Given the description of an element on the screen output the (x, y) to click on. 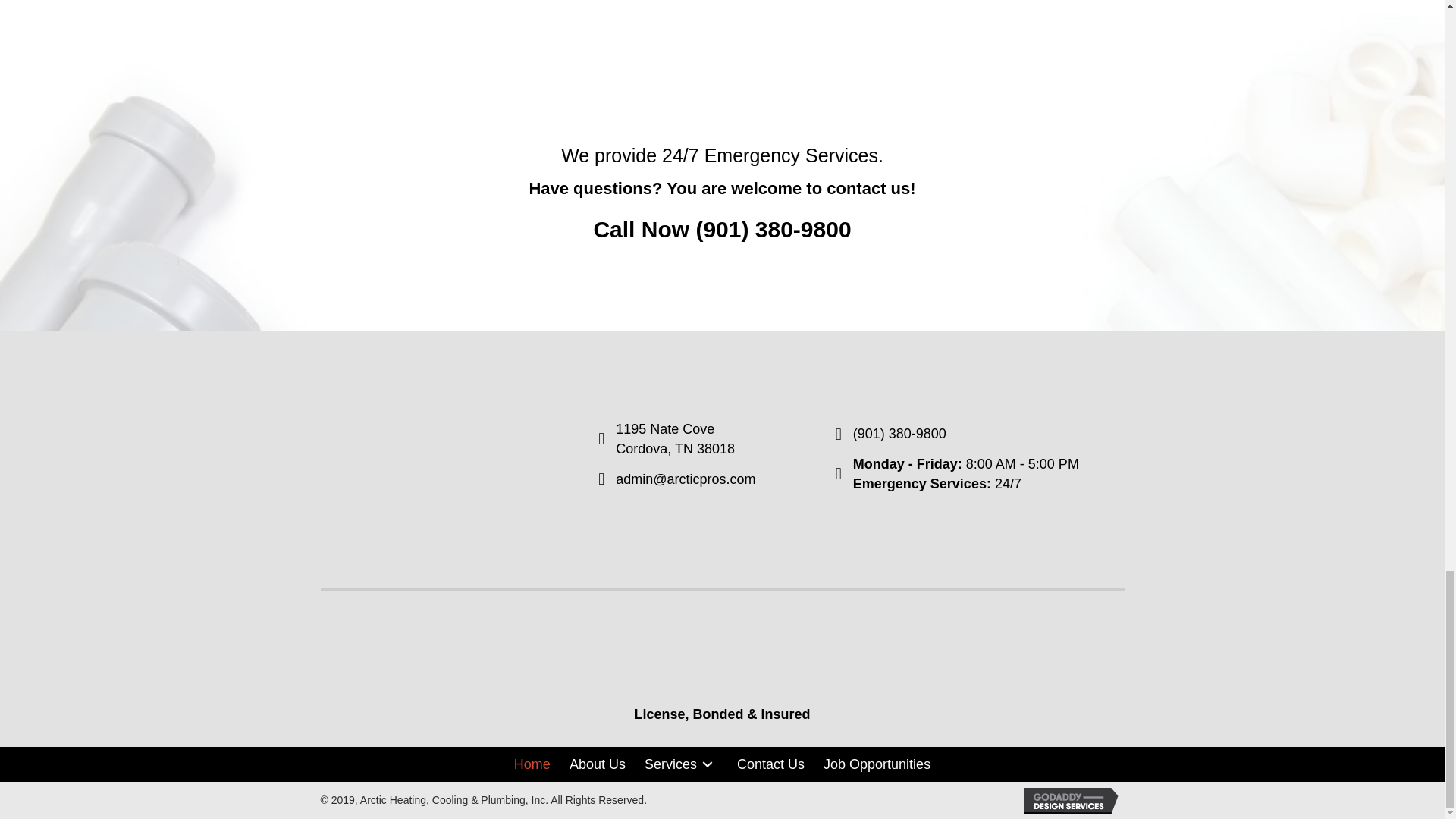
Contact Us (770, 764)
Services (681, 764)
Home (531, 764)
Job Opportunities (876, 764)
About Us (597, 764)
